Given the description of an element on the screen output the (x, y) to click on. 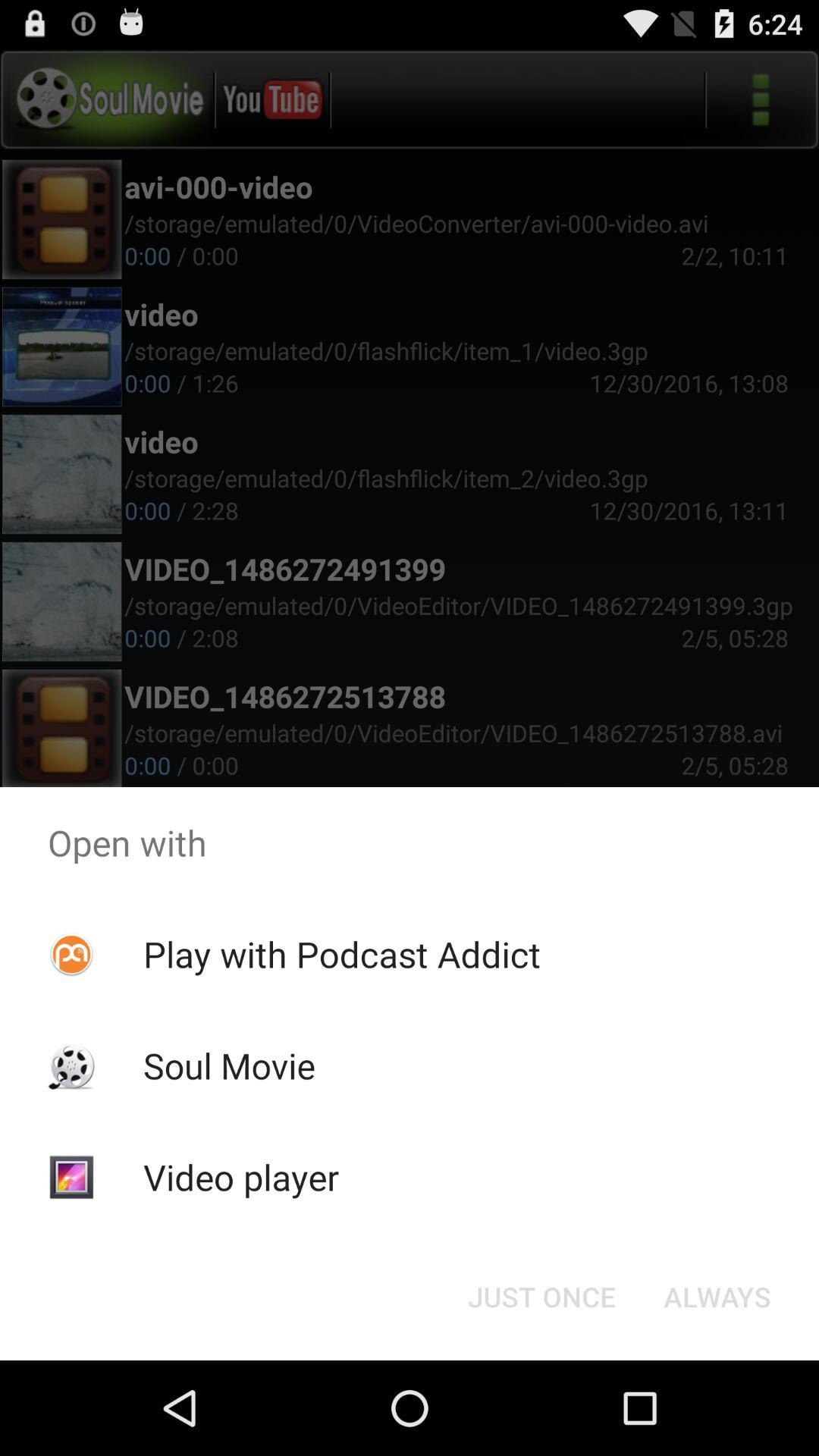
press the icon below play with podcast icon (229, 1065)
